Given the description of an element on the screen output the (x, y) to click on. 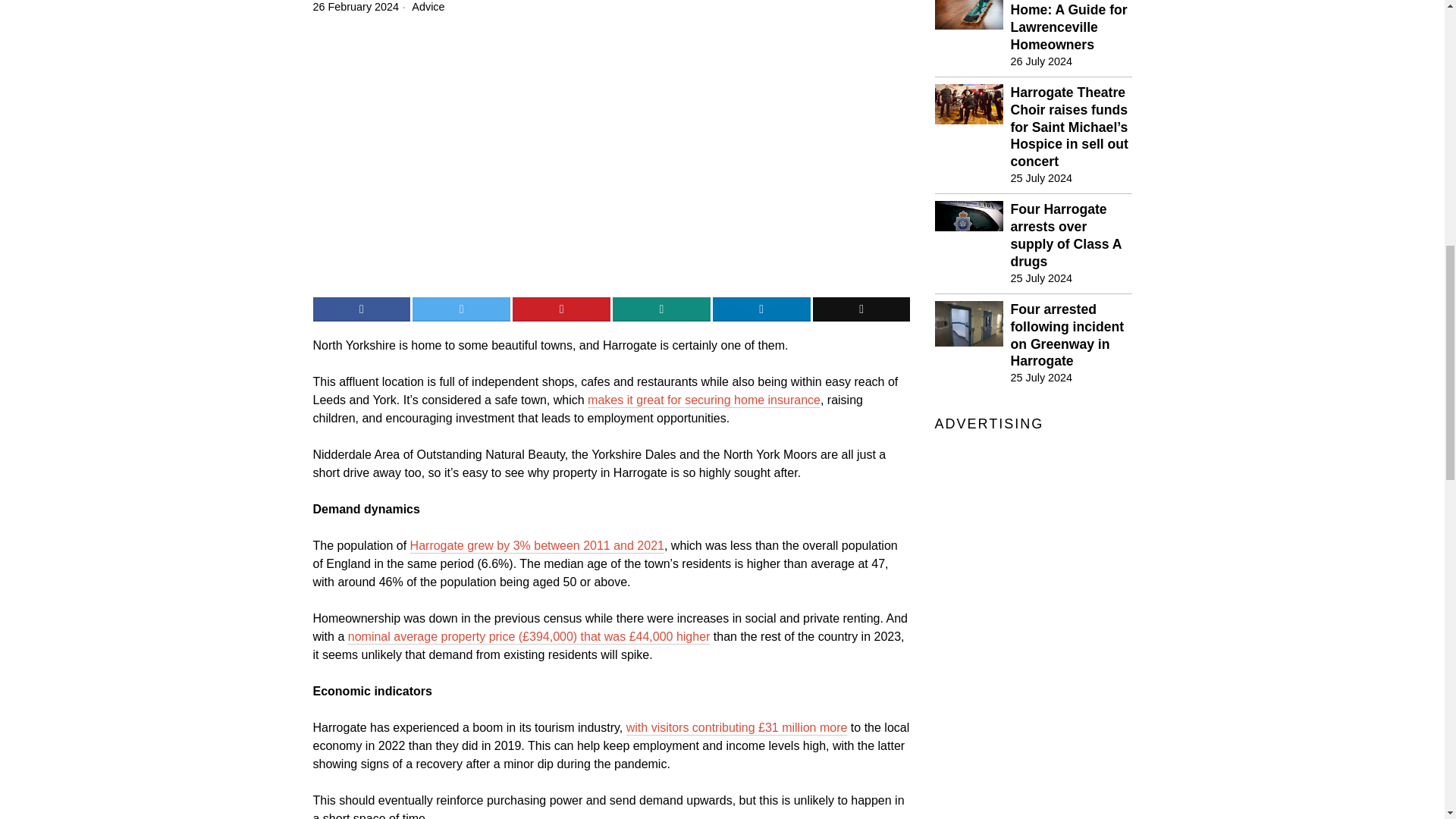
25 Jul, 2024 13:34:07 (1040, 177)
26 Feb, 2024 08:59:53 (355, 7)
Four Harrogate arrests over supply of Class A drugs (1070, 235)
Advice (428, 6)
26 Jul, 2024 08:33:09 (1040, 61)
25 Jul, 2024 11:49:27 (1040, 278)
Four arrested following incident on Greenway in Harrogate (1070, 335)
Decluttering Your Home: A Guide for Lawrenceville Homeowners (1070, 26)
25 Jul, 2024 11:53:09 (1396, 22)
makes it great for securing home insurance (1040, 377)
